Given the description of an element on the screen output the (x, y) to click on. 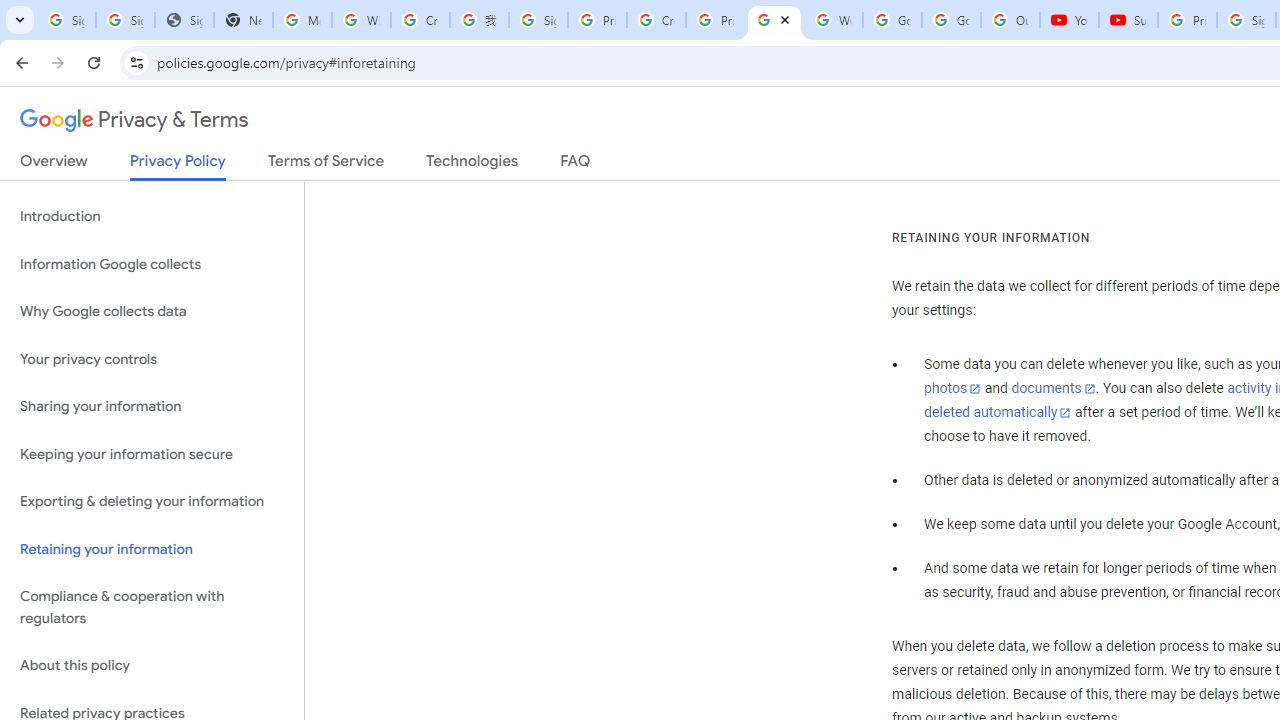
Why Google collects data (152, 312)
